Given the description of an element on the screen output the (x, y) to click on. 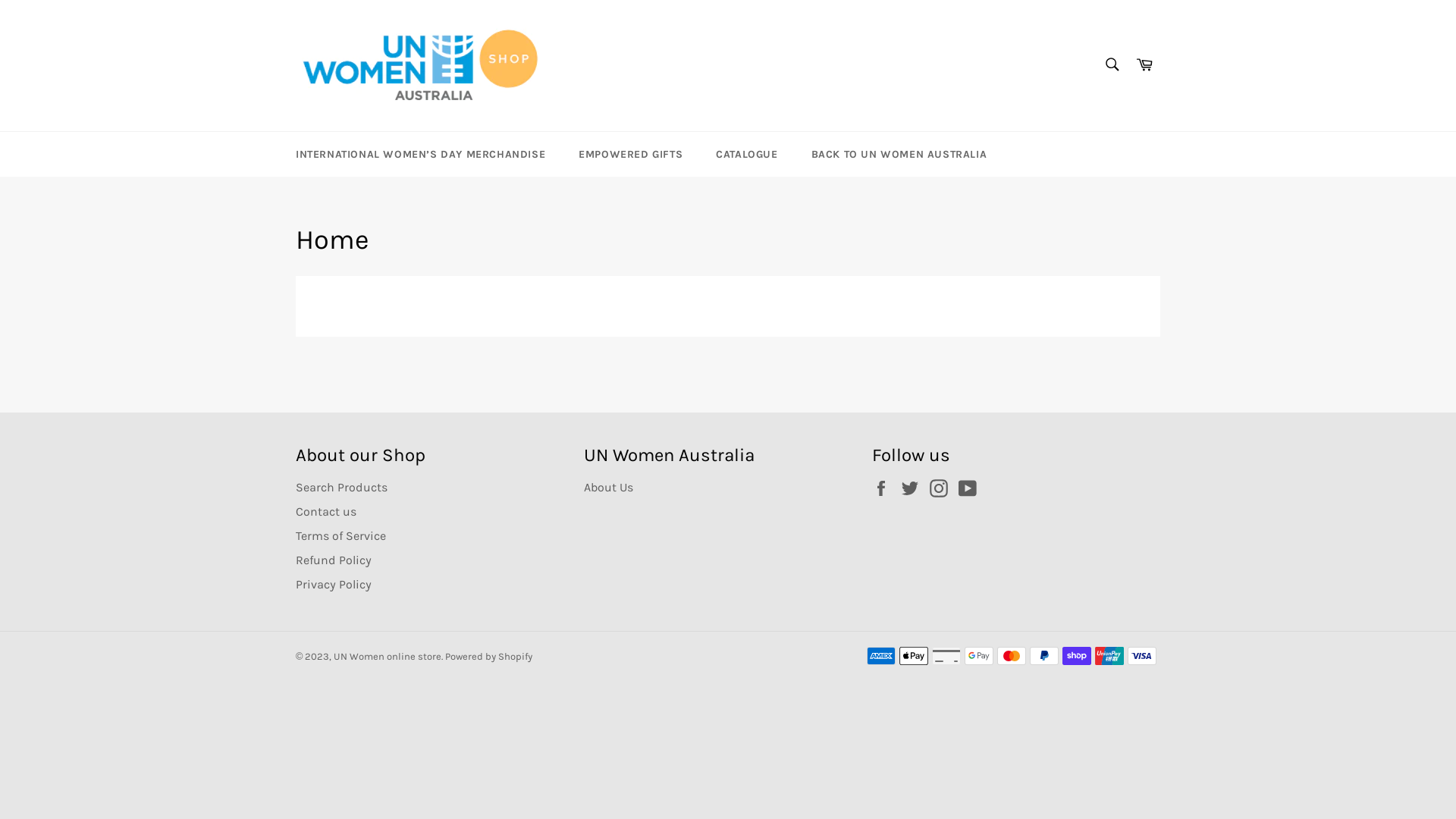
UN Women online store Element type: text (387, 656)
BACK TO UN WOMEN AUSTRALIA Element type: text (899, 153)
Cart Element type: text (1144, 65)
Search Products Element type: text (341, 487)
About Us Element type: text (608, 487)
Twitter Element type: text (913, 488)
Facebook Element type: text (884, 488)
EMPOWERED GIFTS Element type: text (630, 153)
CATALOGUE Element type: text (746, 153)
Refund Policy Element type: text (333, 559)
YouTube Element type: text (971, 488)
Powered by Shopify Element type: text (488, 656)
Search Element type: text (1111, 64)
Terms of Service Element type: text (340, 535)
Instagram Element type: text (942, 488)
Privacy Policy Element type: text (333, 584)
Contact us Element type: text (325, 511)
